Given the description of an element on the screen output the (x, y) to click on. 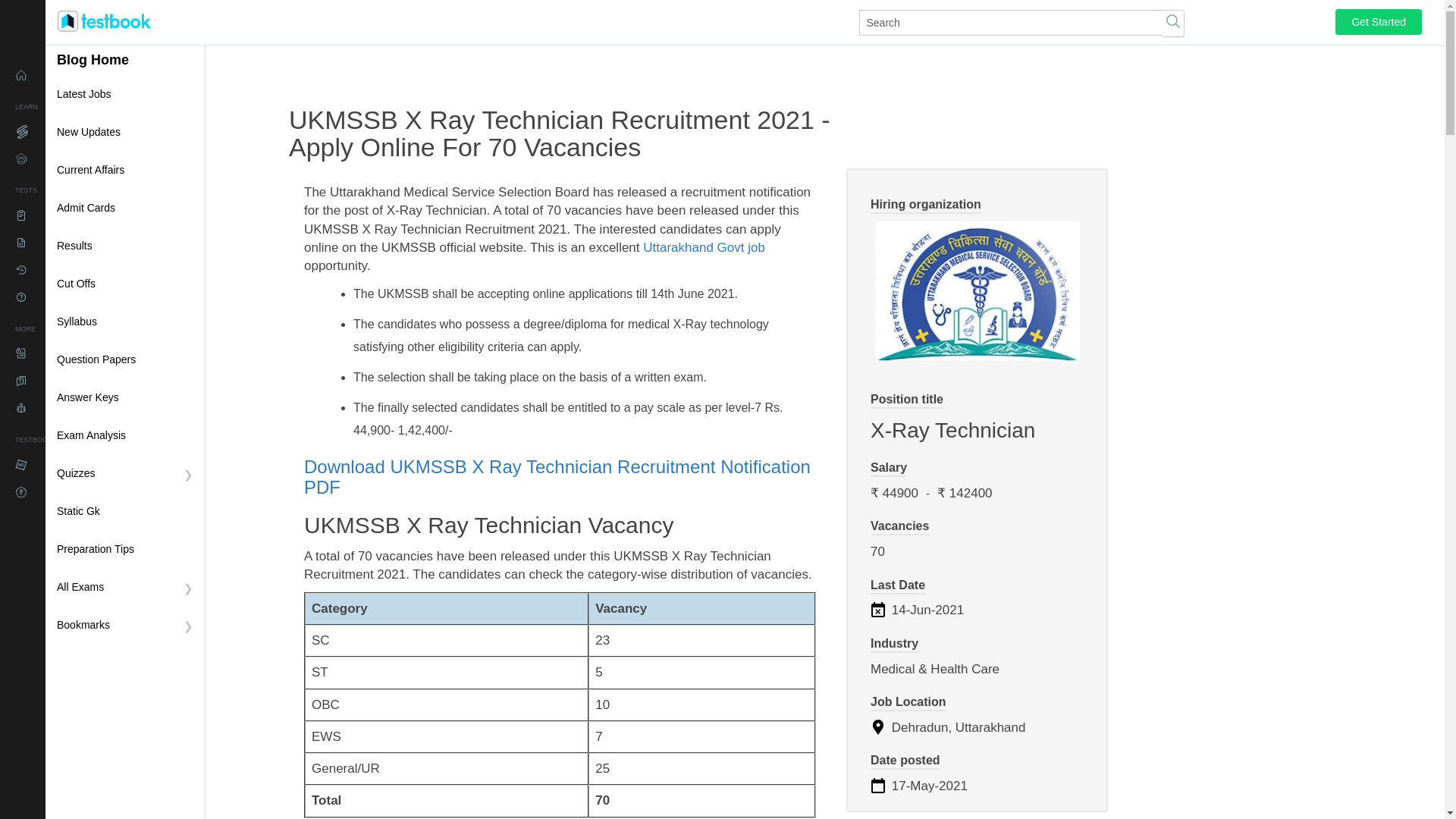
Question Papers (125, 360)
Cut Offs (125, 284)
Doubts (75, 380)
Get Started (1378, 22)
Refer and Earn (75, 491)
Quizzes (125, 474)
Previous Year Papers (75, 242)
Blog Home (92, 60)
Latest Jobs (125, 94)
Exam Analysis (125, 435)
New Updates (125, 132)
Exams (75, 353)
Syllabus (125, 322)
Quizzes (75, 296)
Answer Keys (125, 397)
